Given the description of an element on the screen output the (x, y) to click on. 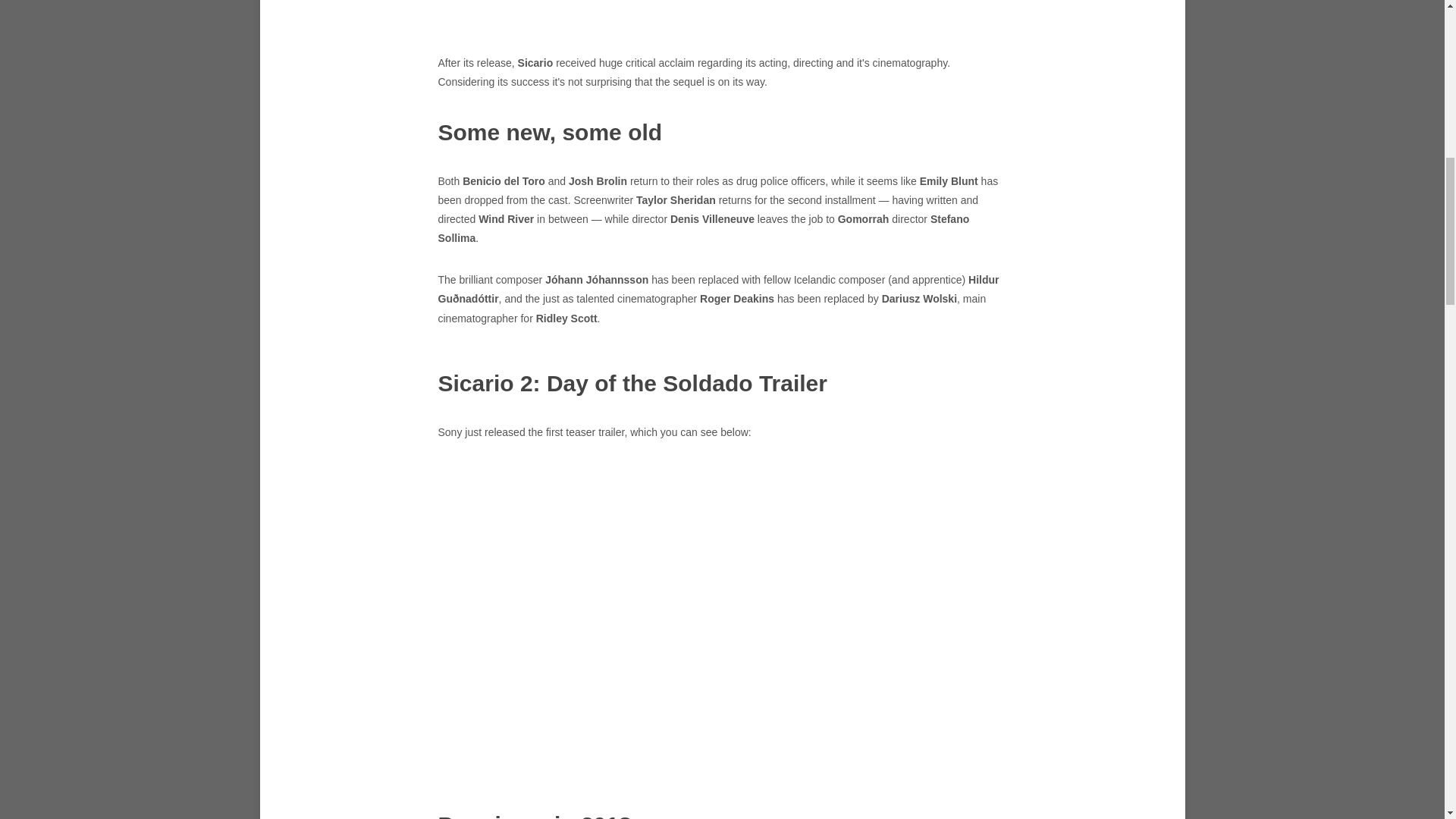
Advertisement (722, 15)
